Given the description of an element on the screen output the (x, y) to click on. 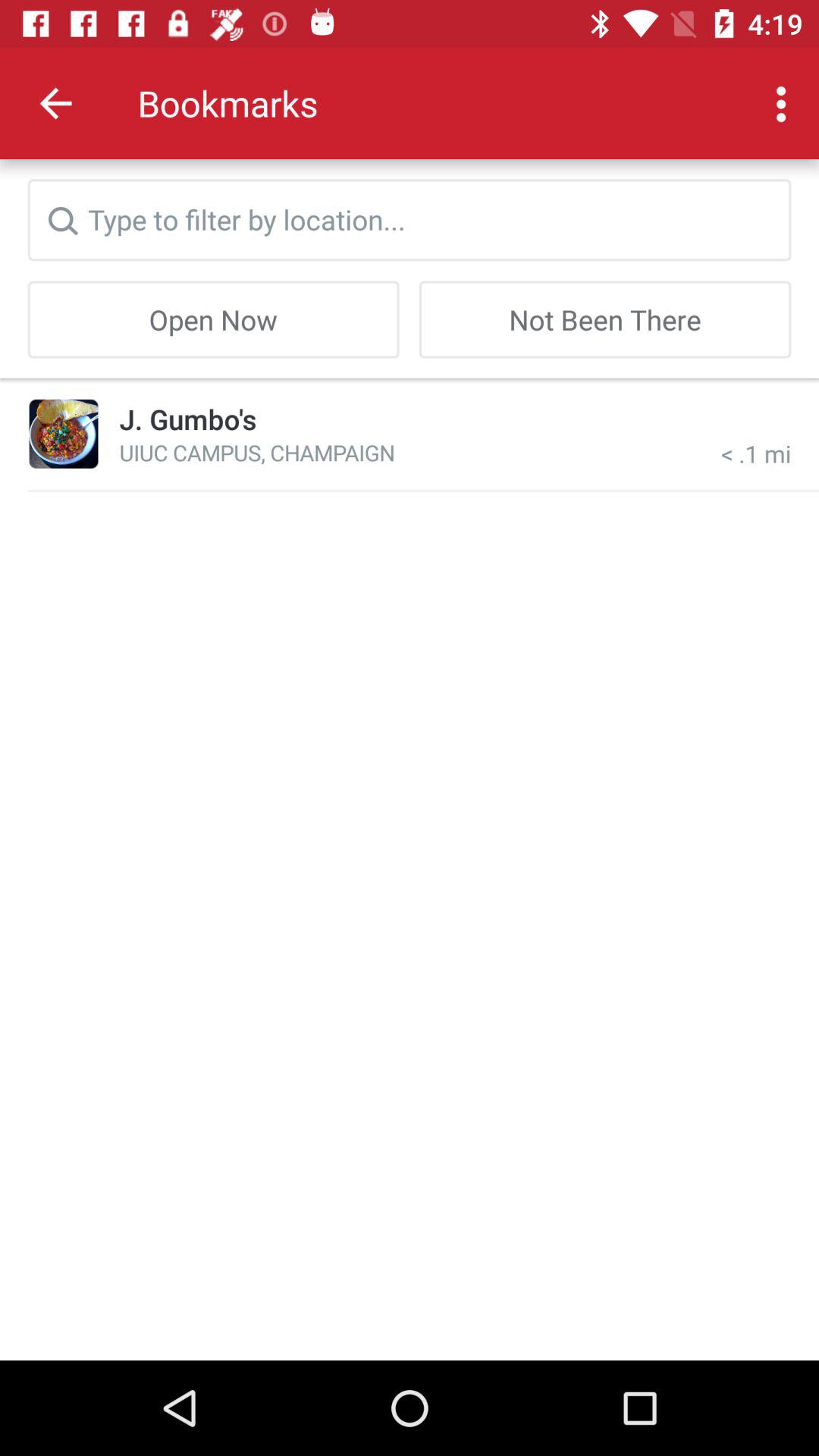
select item next to bookmarks (55, 103)
